Given the description of an element on the screen output the (x, y) to click on. 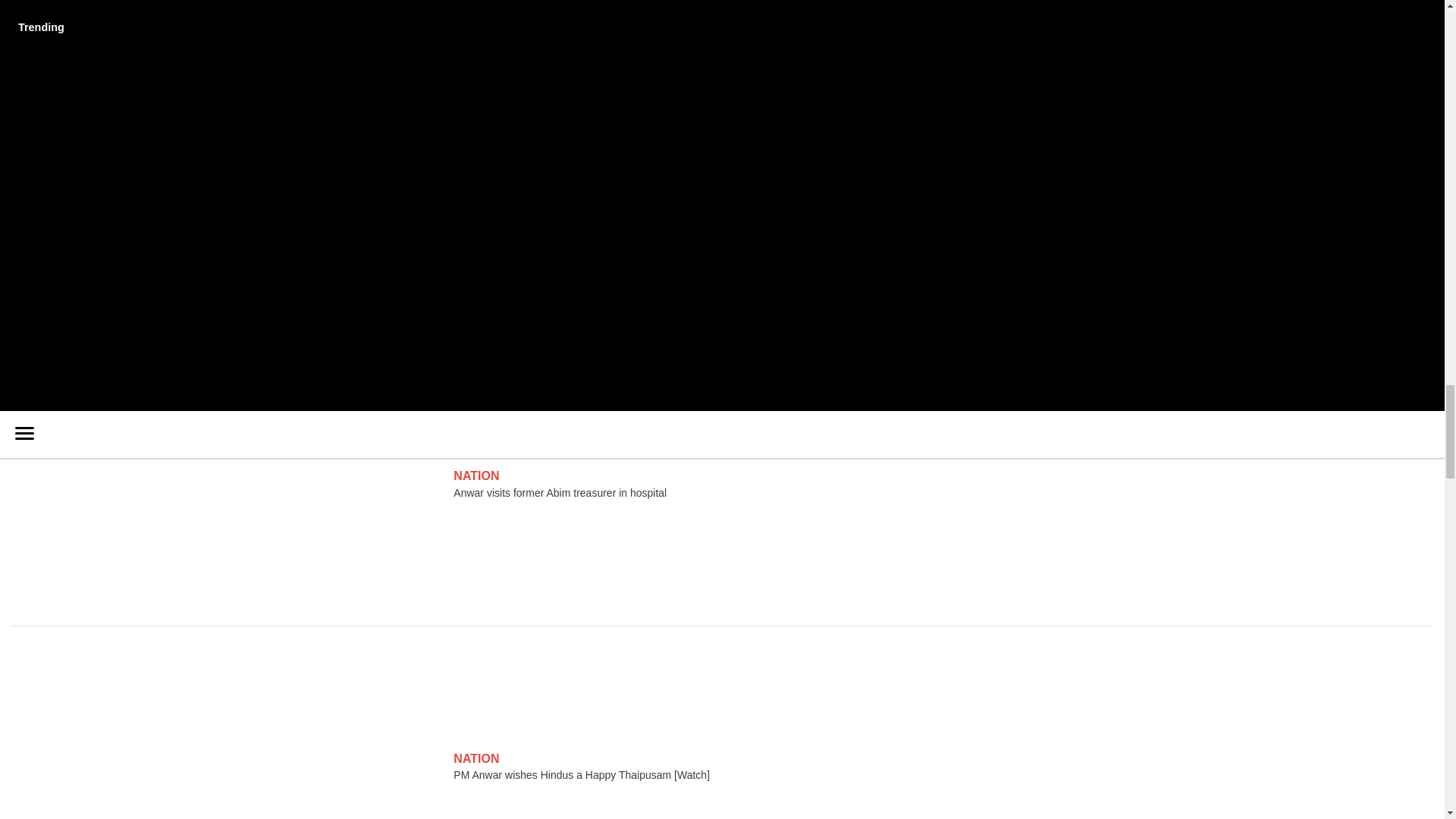
Police arrest 3 in connection with Albertine's disappearance (256, 91)
